Given the description of an element on the screen output the (x, y) to click on. 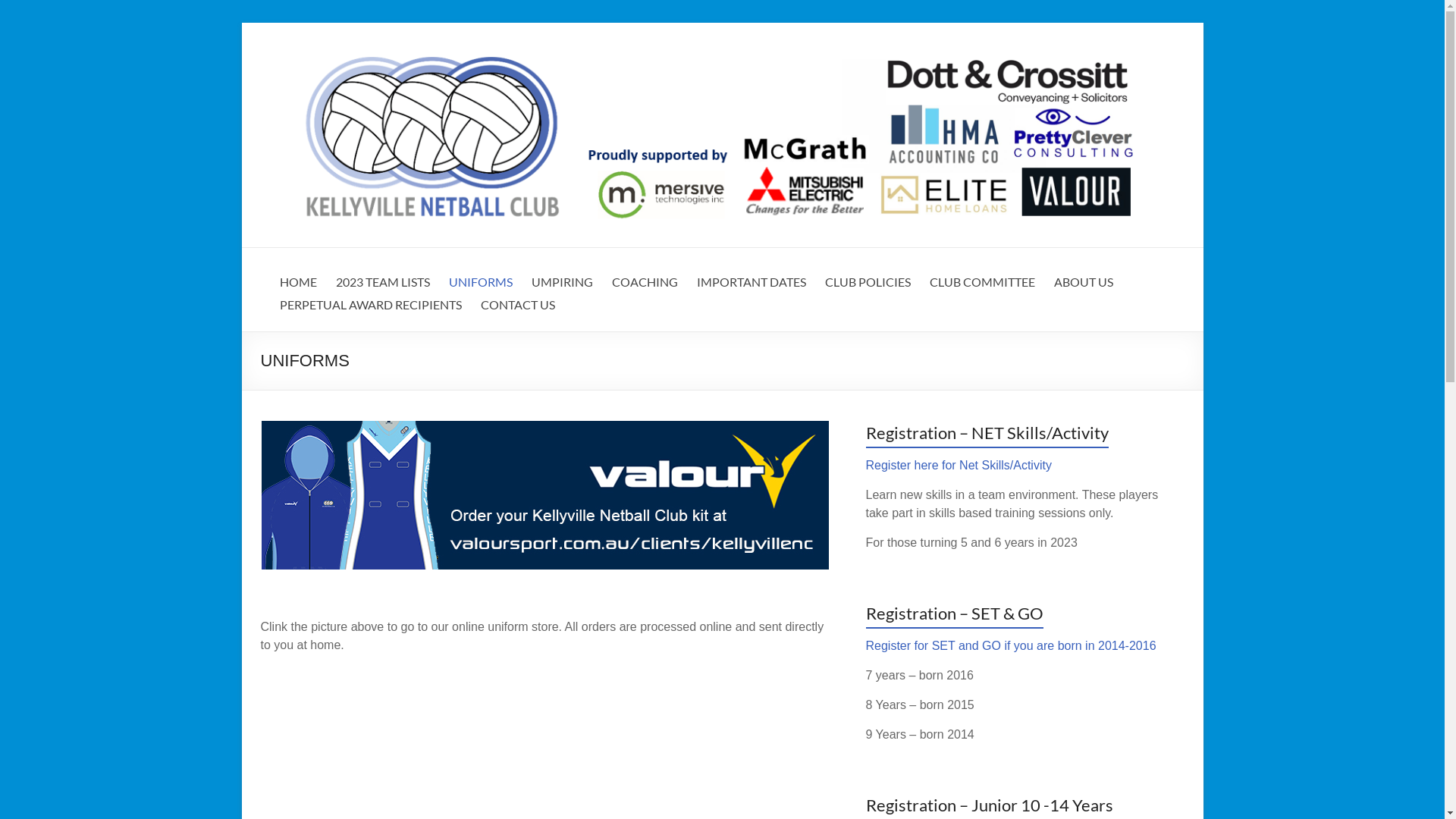
Register for SET and GO if you are born in 2014-2016 Element type: text (1011, 645)
COACHING Element type: text (644, 285)
CONTACT US Element type: text (517, 308)
PERPETUAL AWARD RECIPIENTS Element type: text (370, 308)
UNIFORMS Element type: text (480, 285)
IMPORTANT DATES Element type: text (750, 285)
2023 TEAM LISTS Element type: text (382, 285)
CLUB COMMITTEE Element type: text (982, 285)
Register here for Net Skills/Activity Element type: text (958, 464)
HOME Element type: text (297, 285)
ABOUT US Element type: text (1083, 285)
UMPIRING Element type: text (561, 285)
CLUB POLICIES Element type: text (867, 285)
